Given the description of an element on the screen output the (x, y) to click on. 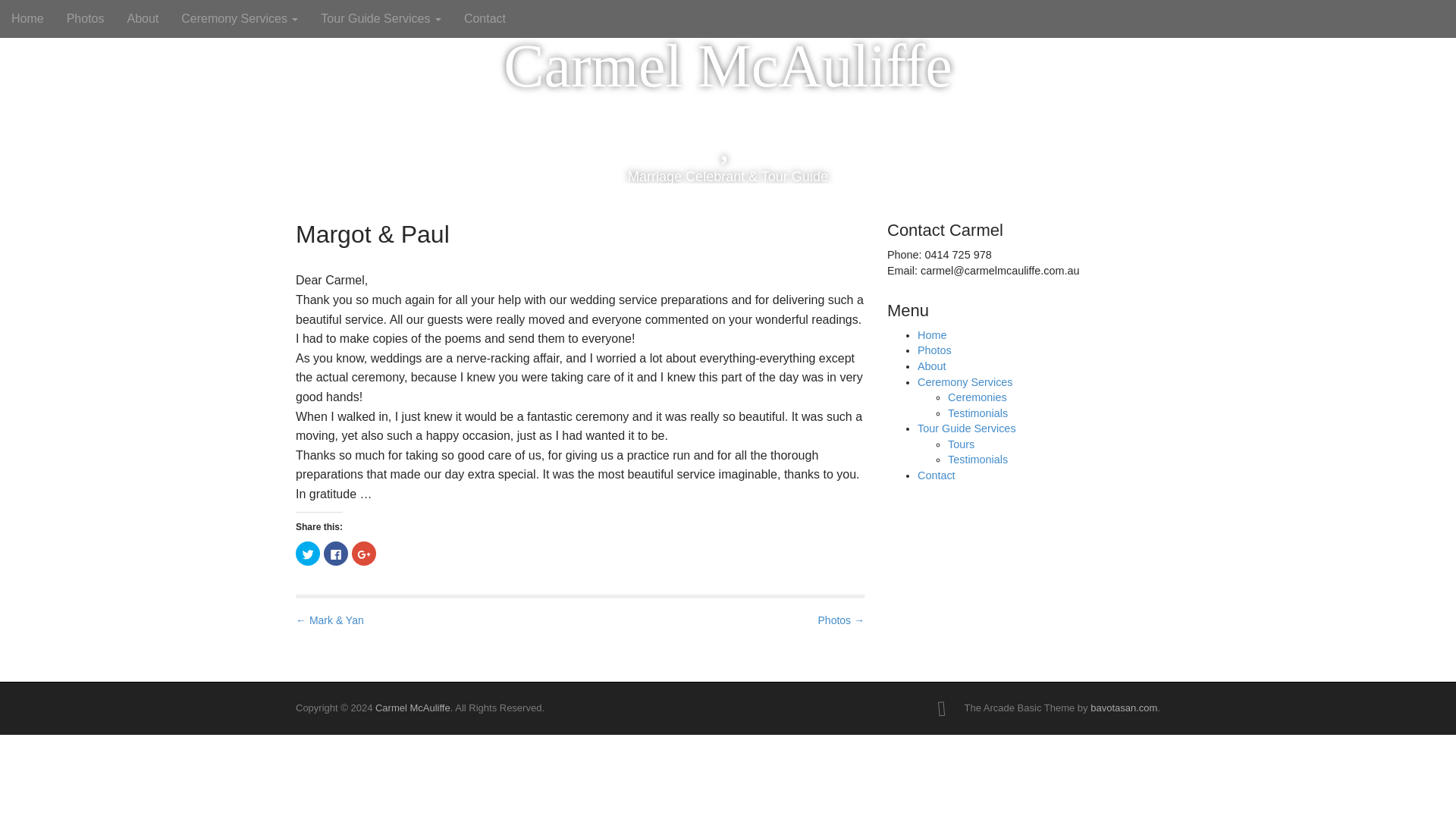
Carmel McAuliffe (412, 707)
Ceremonies (977, 397)
About (931, 366)
Ceremony Services (965, 381)
Click to share on Facebook (335, 553)
Testimonials (977, 413)
Ceremony Services (239, 18)
Contact (936, 475)
Tour Guide Services (380, 18)
bavotasan.com (1123, 707)
